Given the description of an element on the screen output the (x, y) to click on. 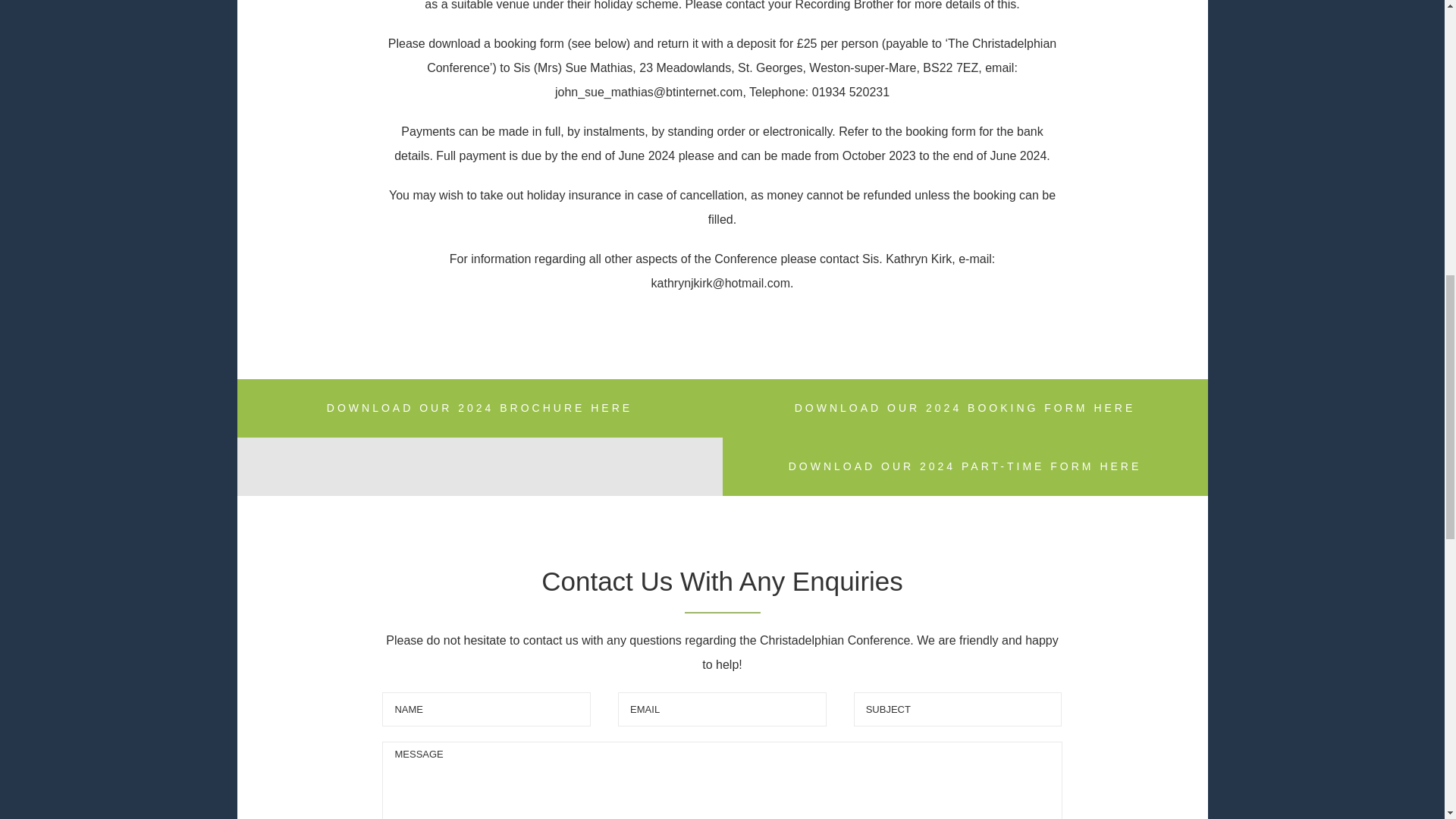
DOWNLOAD OUR 2024 PART-TIME FORM HERE (964, 466)
DOWNLOAD OUR 2024 PART-TIME FORM HERE (721, 466)
DOWNLOAD OUR 2024 BOOKING FORM HERE (964, 408)
DOWNLOAD OUR 2024 BROCHURE HERE (478, 408)
